Given the description of an element on the screen output the (x, y) to click on. 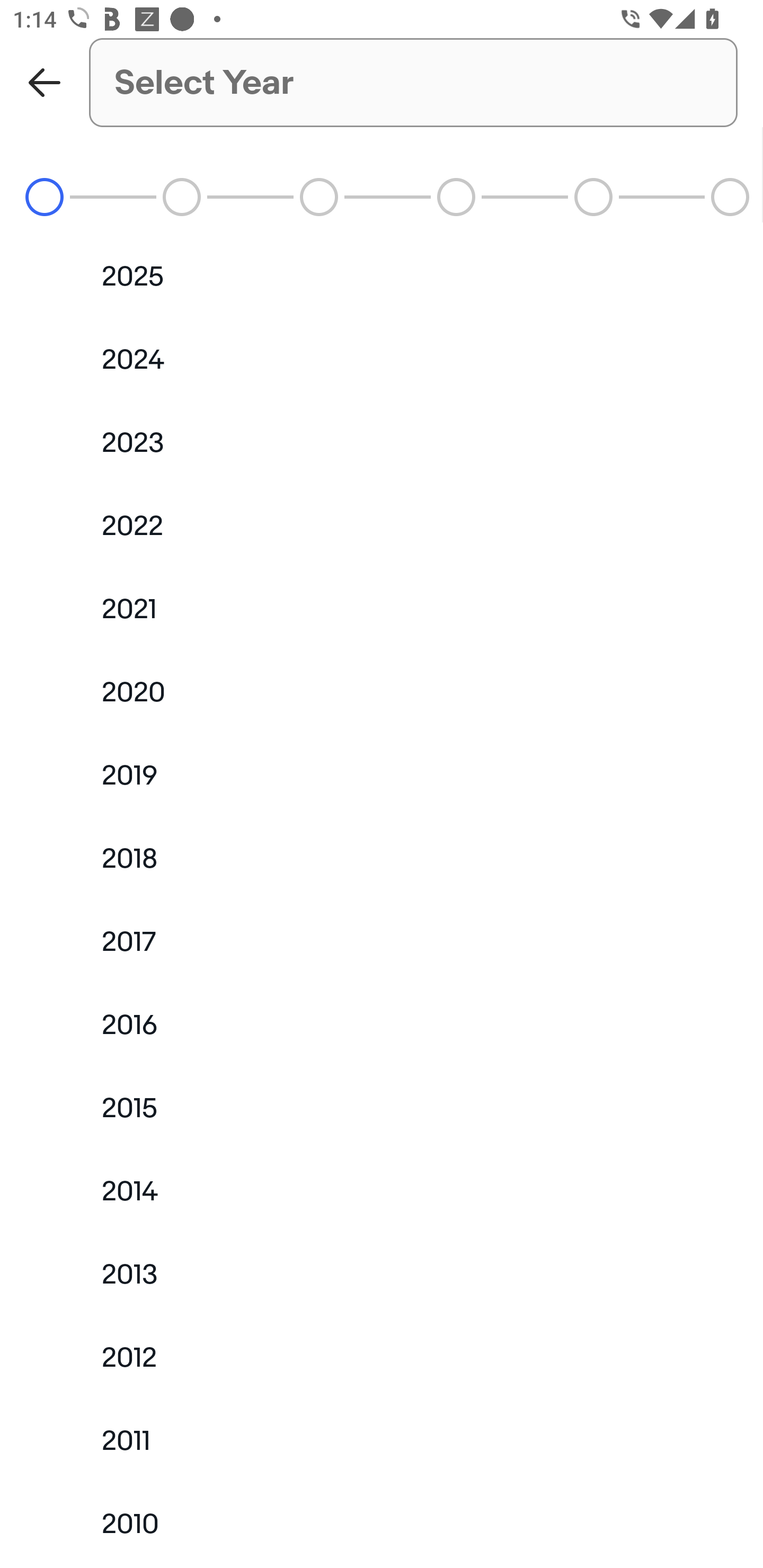
Back (44, 82)
Select Year (413, 82)
2025 (381, 276)
2024 (381, 359)
2023 (381, 442)
2022 (381, 525)
2021 (381, 608)
2020 (381, 691)
2019 (381, 774)
2018 (381, 858)
2017 (381, 941)
2016 (381, 1024)
2015 (381, 1107)
2014 (381, 1190)
2013 (381, 1274)
2012 (381, 1358)
2011 (381, 1441)
2010 (381, 1524)
